Given the description of an element on the screen output the (x, y) to click on. 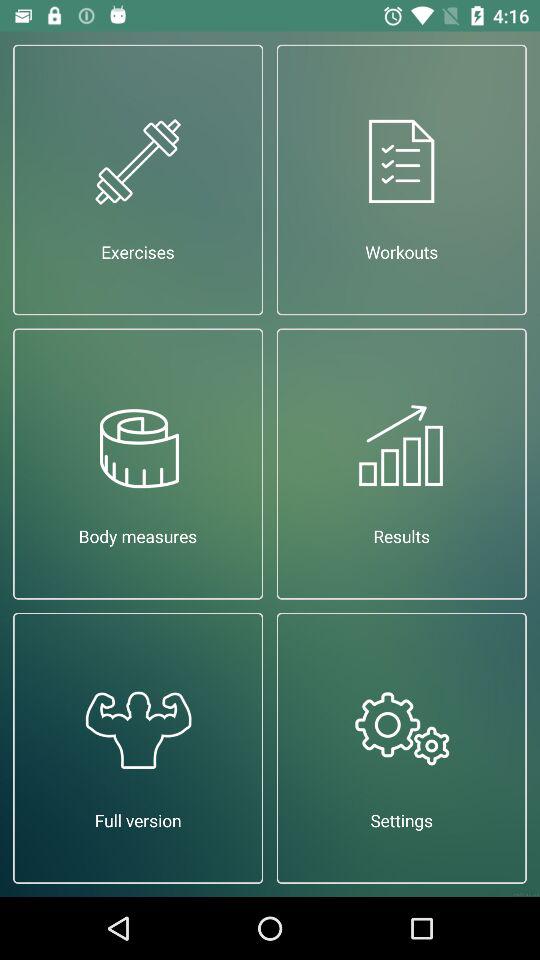
click the full version at the bottom left corner (137, 748)
